Given the description of an element on the screen output the (x, y) to click on. 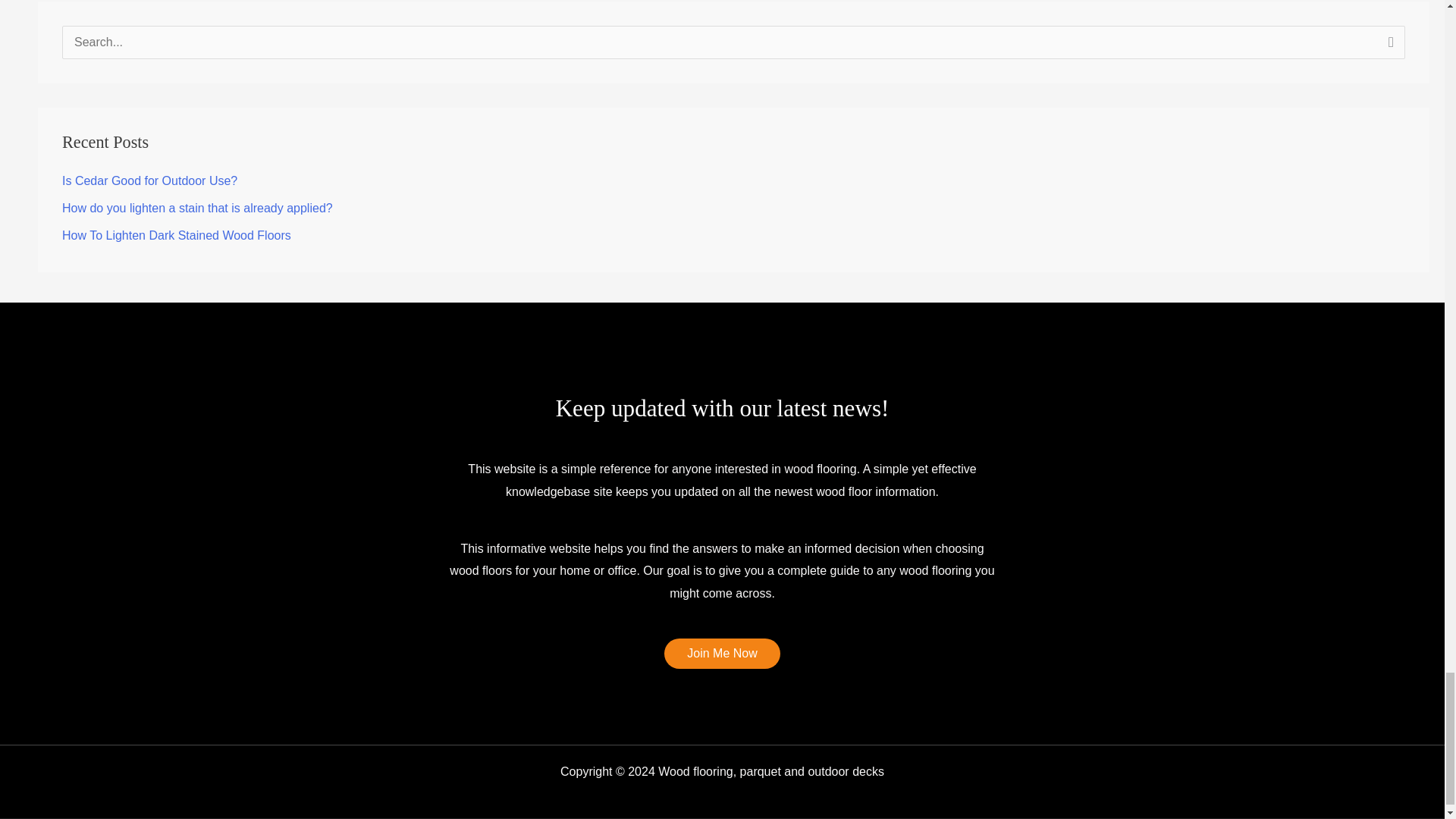
How do you lighten a stain that is already applied? (197, 207)
Join Me Now (720, 653)
Is Cedar Good for Outdoor Use? (149, 180)
How To Lighten Dark Stained Wood Floors (176, 235)
